Given the description of an element on the screen output the (x, y) to click on. 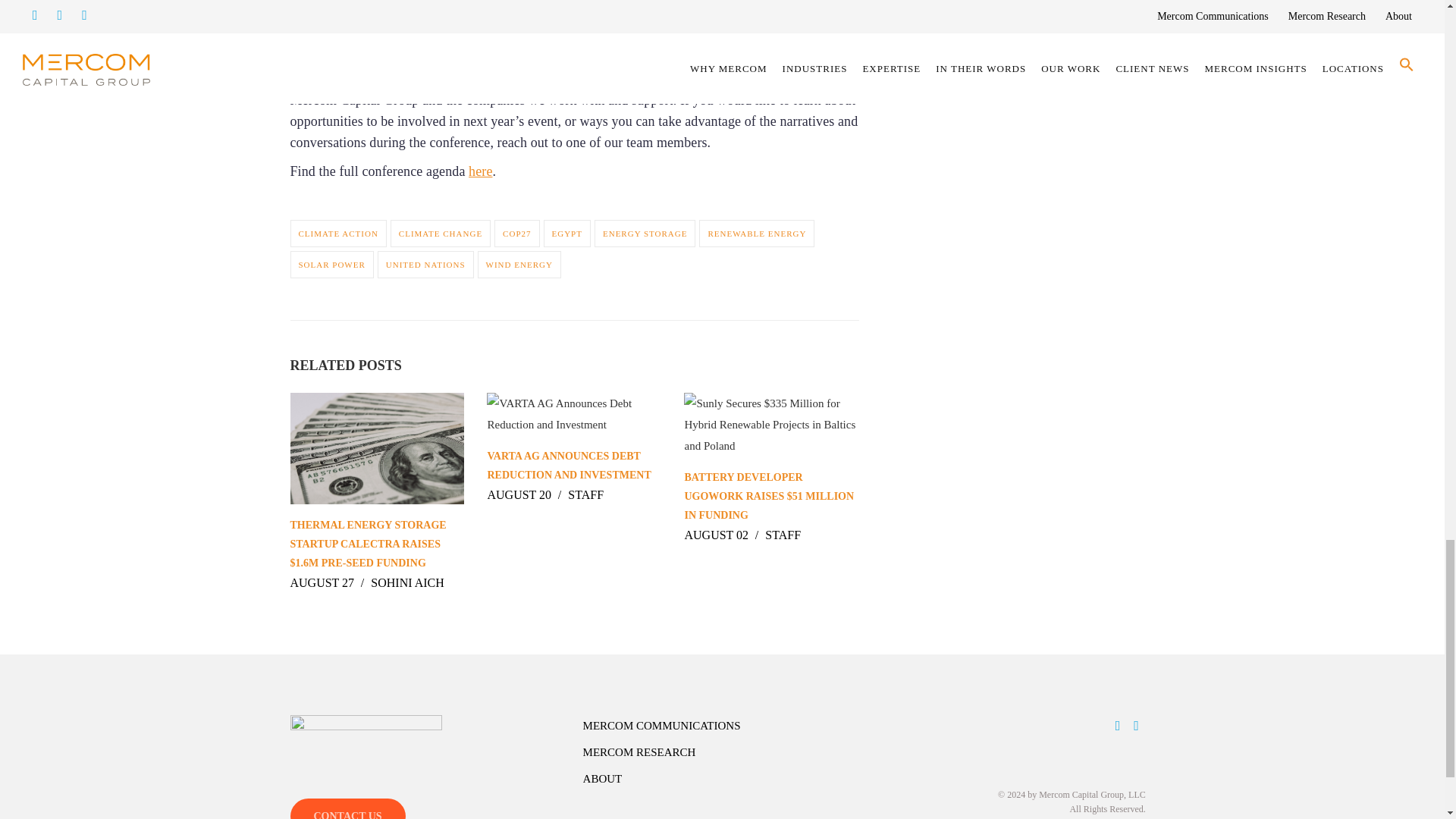
65 percent (442, 7)
CLIMATE ACTION (337, 233)
ENERGY STORAGE (644, 233)
EGYPT (567, 233)
WIND ENERGY (518, 264)
COP27 (516, 233)
Posts by Staff (782, 534)
SOLAR POWER (330, 264)
UNITED NATIONS (425, 264)
here (480, 171)
